Given the description of an element on the screen output the (x, y) to click on. 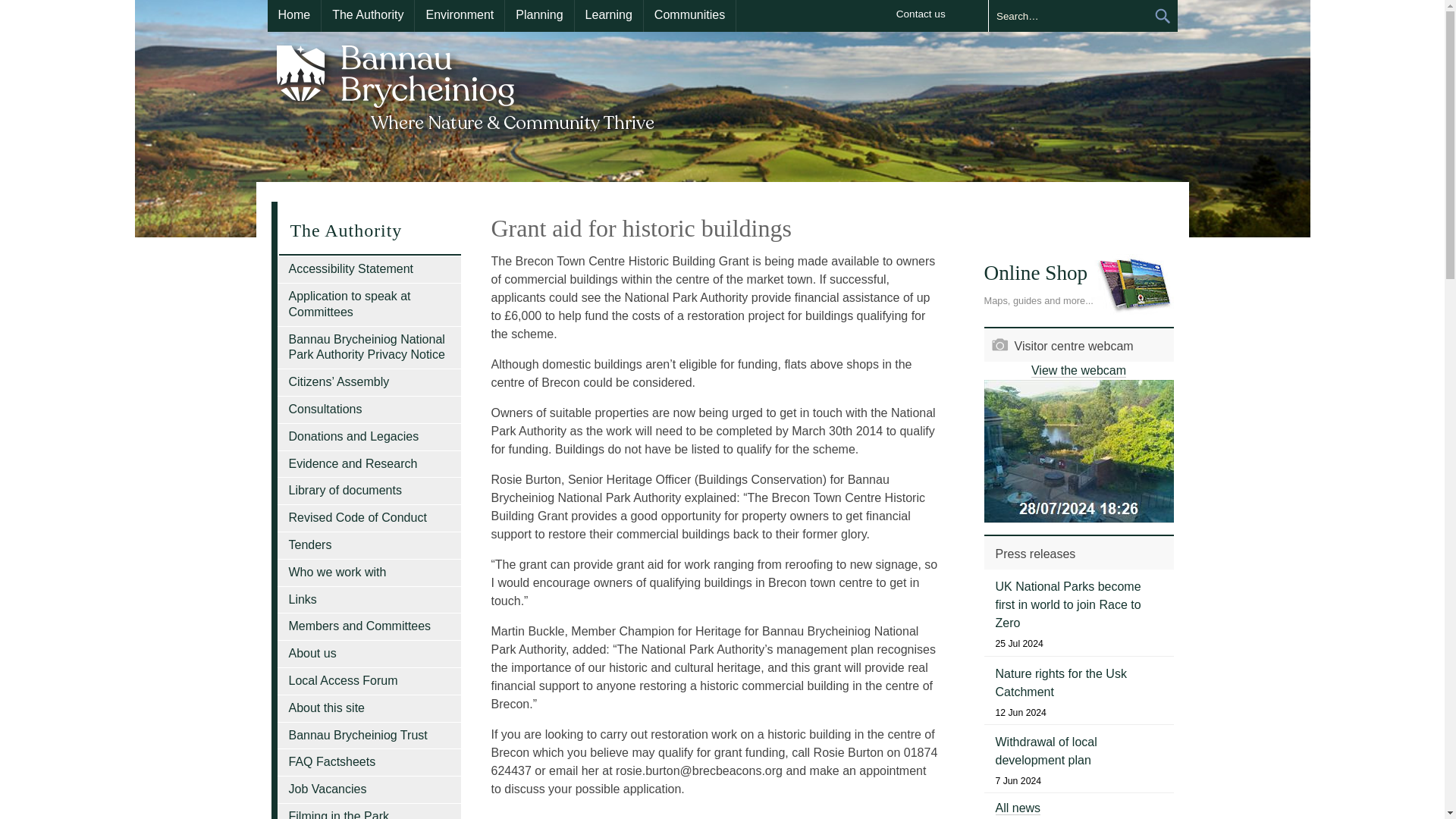
Home (293, 15)
Environment (458, 15)
Bannau Brycheiniog National Park Authority (465, 85)
The Authority (367, 15)
Brecon Beacons National Park homepage (465, 85)
